Given the description of an element on the screen output the (x, y) to click on. 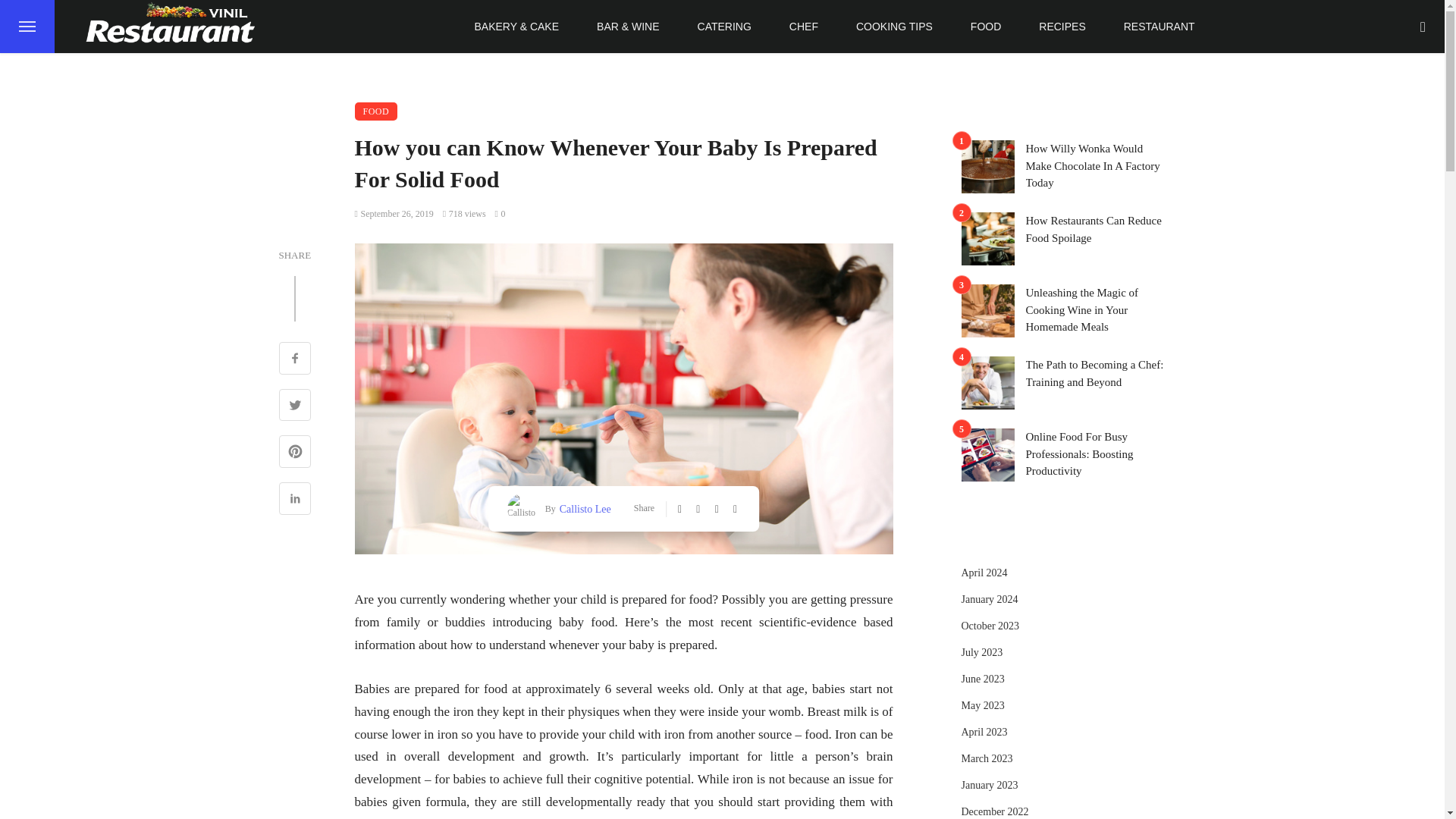
CATERING (724, 26)
Posts by Callisto Lee (583, 508)
Share on Pinterest (295, 452)
Share on Linkedin (295, 500)
Share on Facebook (295, 360)
September 26, 2019 at 5:22 am (394, 213)
0 Comments (500, 213)
Callisto Lee (583, 508)
FOOD (986, 26)
FOOD (376, 111)
0 (500, 213)
RESTAURANT (1159, 26)
COOKING TIPS (894, 26)
CHEF (803, 26)
Share on Twitter (295, 407)
